Given the description of an element on the screen output the (x, y) to click on. 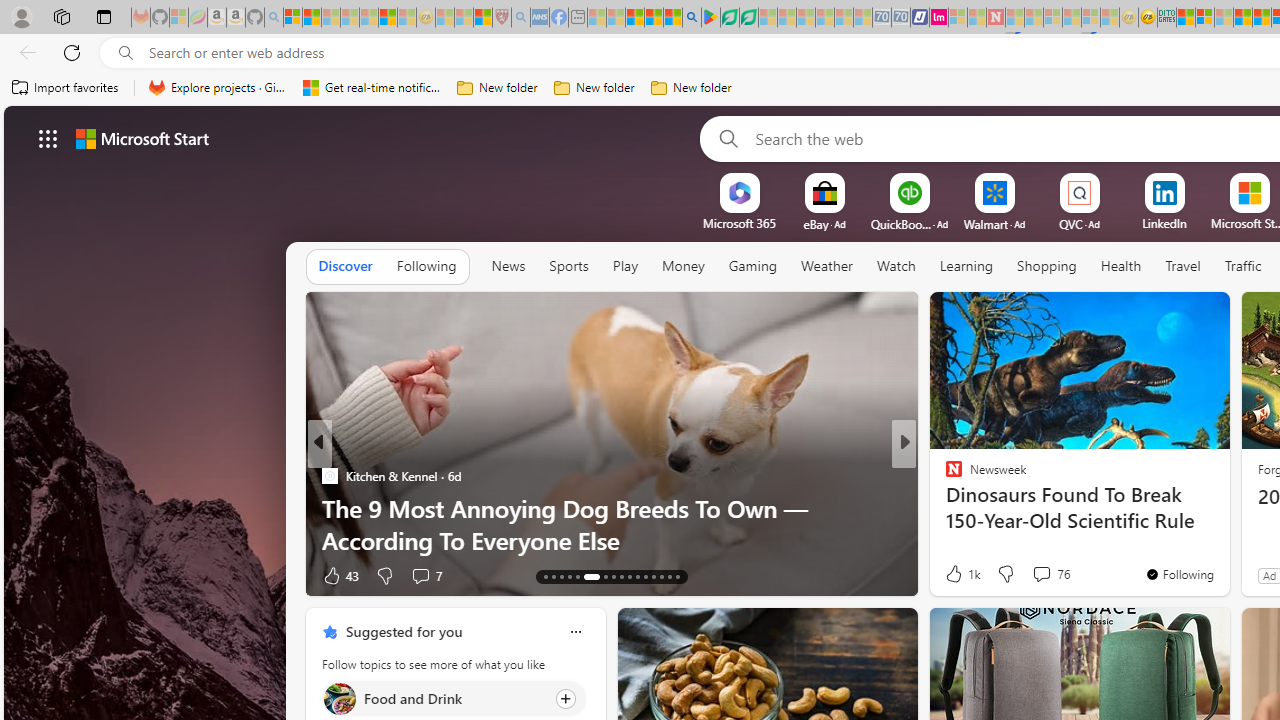
The Spicy Chefs (944, 475)
1k Like (961, 574)
97 Like (956, 574)
LinkedIn (1163, 223)
Microsoft start (142, 138)
